Given the description of an element on the screen output the (x, y) to click on. 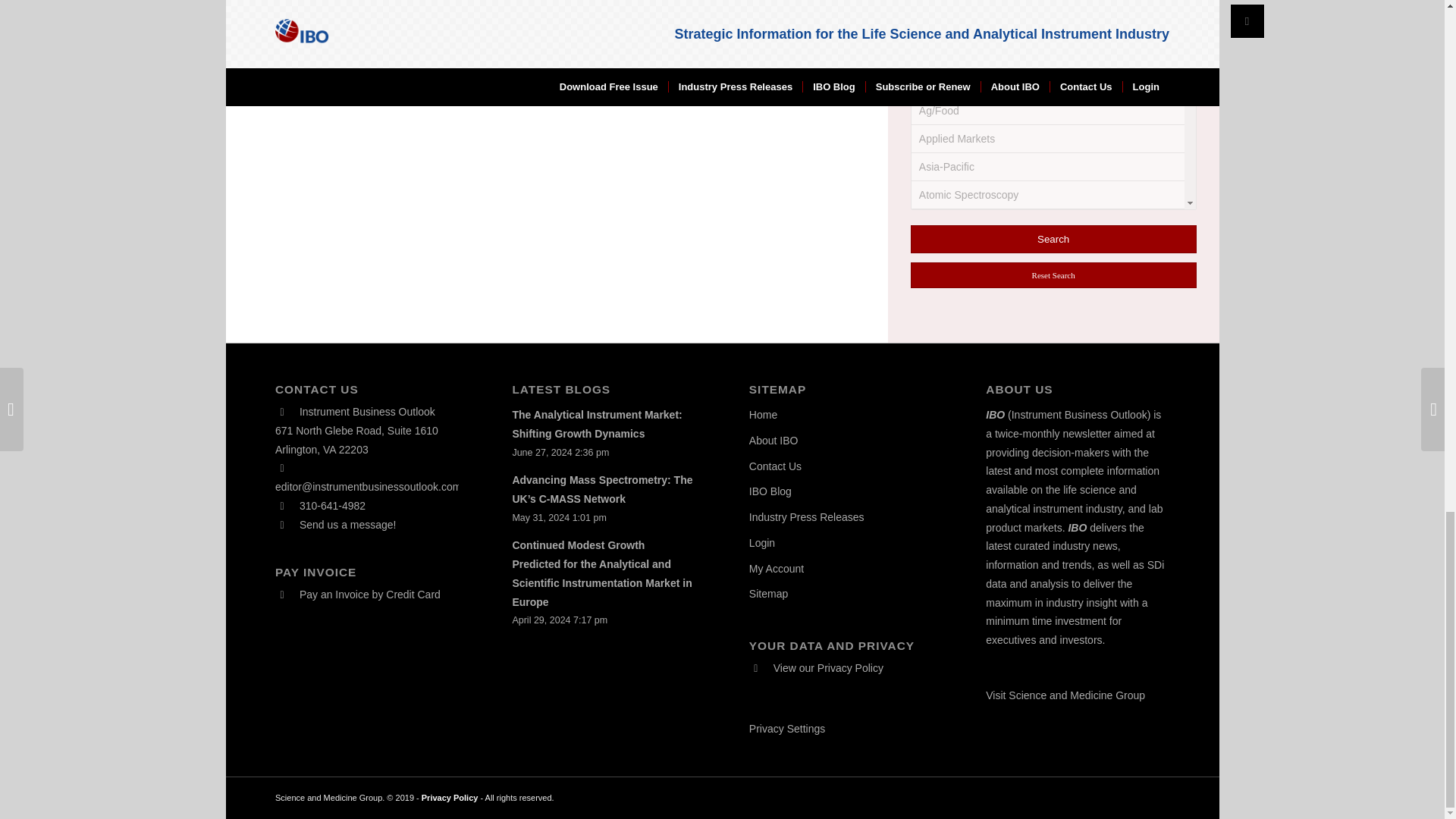
The Analytical Instrument Market: Shifting Growth Dynamics (596, 423)
chromatography-and-mass-spectrometryroutine-ms (929, 29)
general-laboratory-productsconsumableslife-sciencegene-based (929, 322)
general-laboratory-productsconsumables (929, 157)
general-laboratory-products (938, 126)
